Given the description of an element on the screen output the (x, y) to click on. 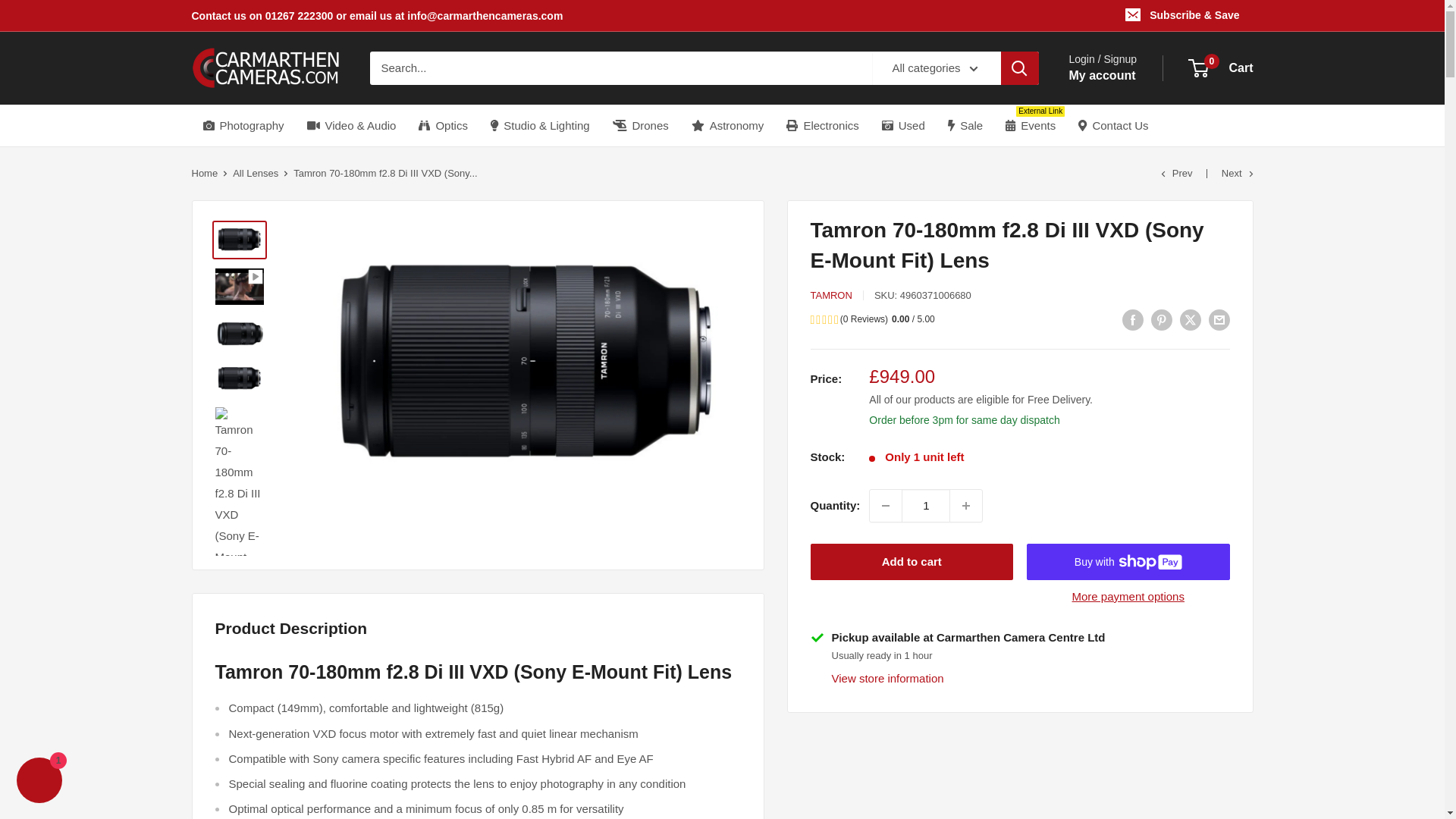
Electronics (821, 125)
Drones (640, 125)
Optics (443, 125)
Astronomy (727, 125)
1 (925, 505)
Used (903, 125)
Sale (965, 125)
Photography (242, 125)
